Given the description of an element on the screen output the (x, y) to click on. 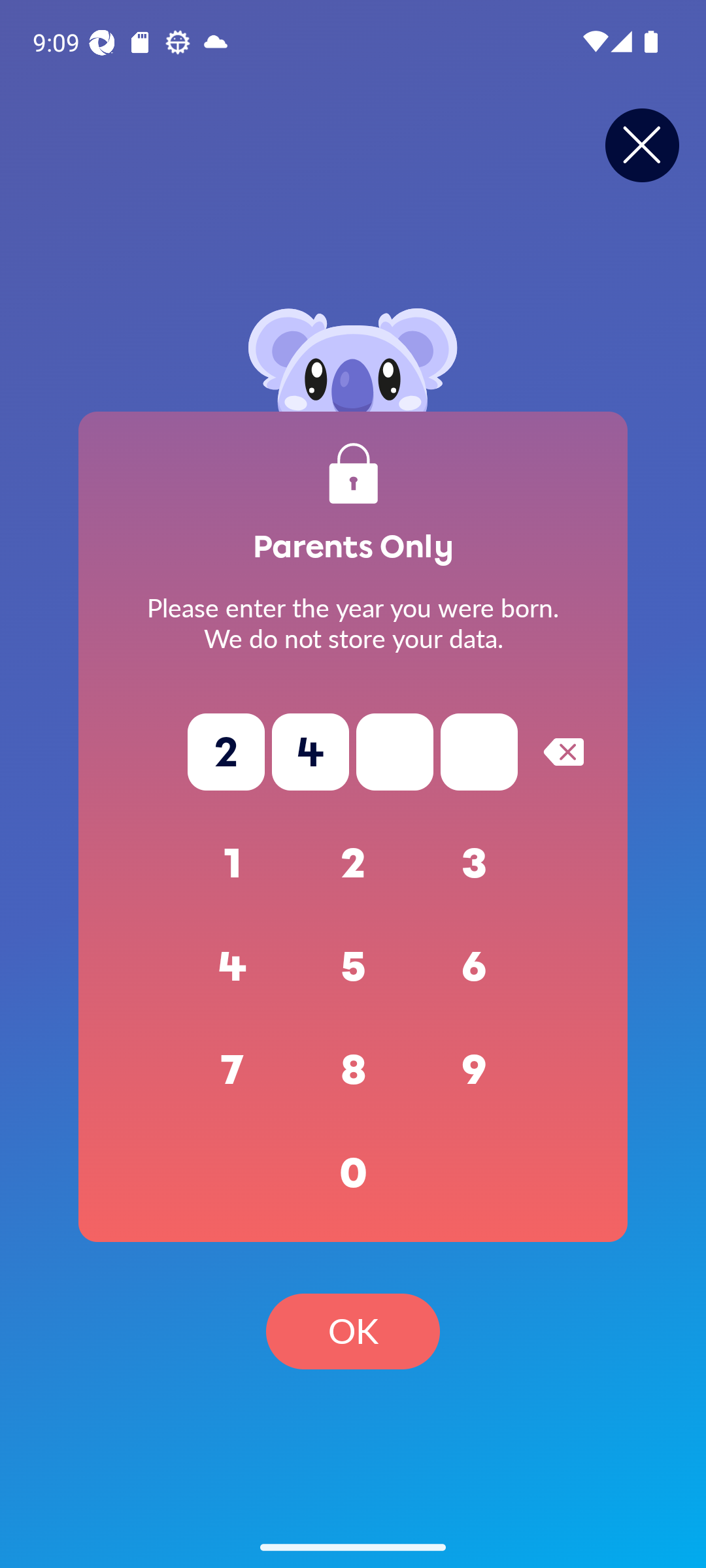
Delete (563, 751)
1 (232, 863)
2 (353, 863)
3 (474, 863)
4 (232, 966)
5 (353, 966)
6 (474, 966)
7 (232, 1069)
8 (353, 1069)
9 (474, 1069)
0 (353, 1173)
OK (352, 1331)
